Given the description of an element on the screen output the (x, y) to click on. 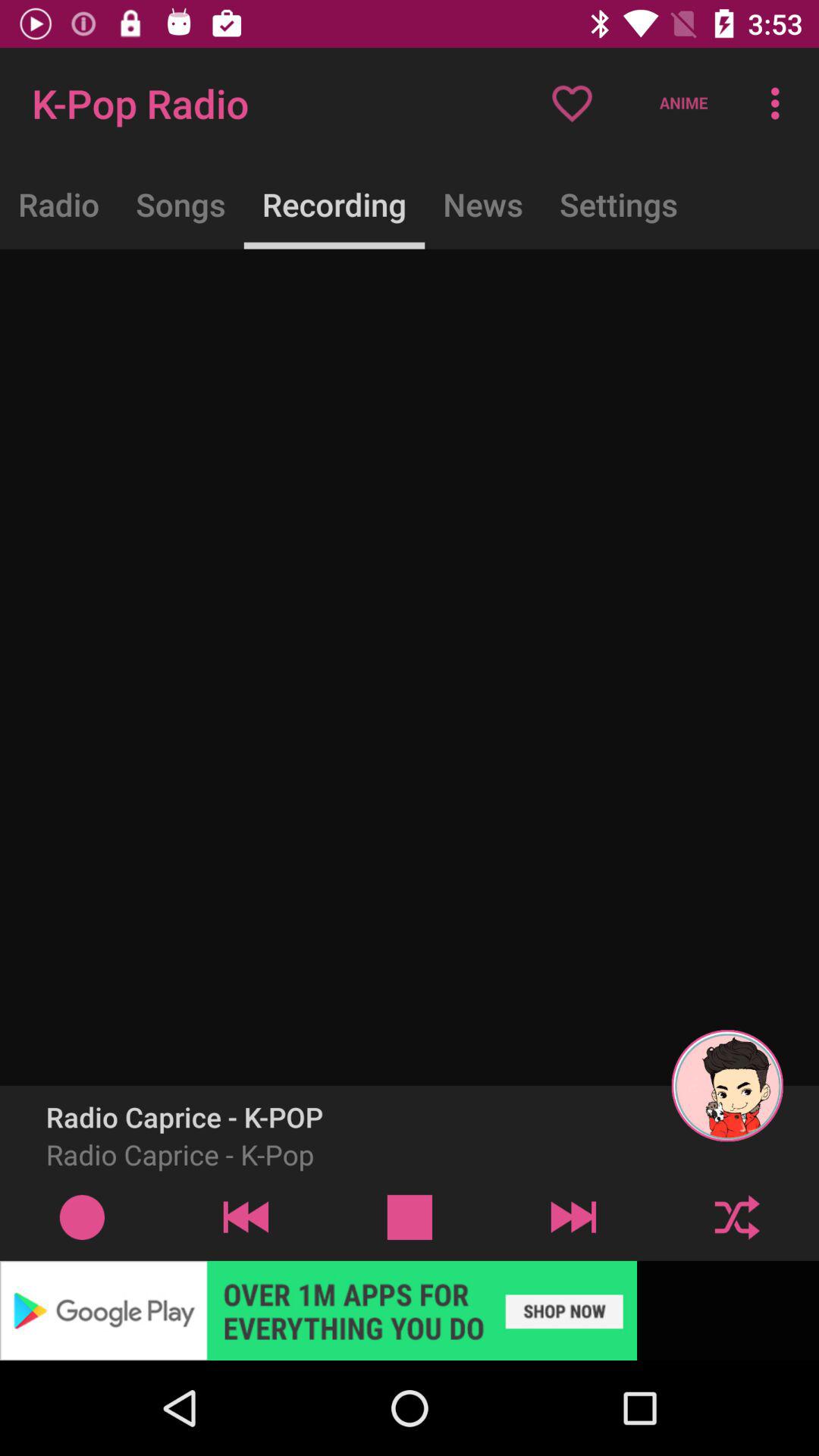
shuffle option (737, 1216)
